Given the description of an element on the screen output the (x, y) to click on. 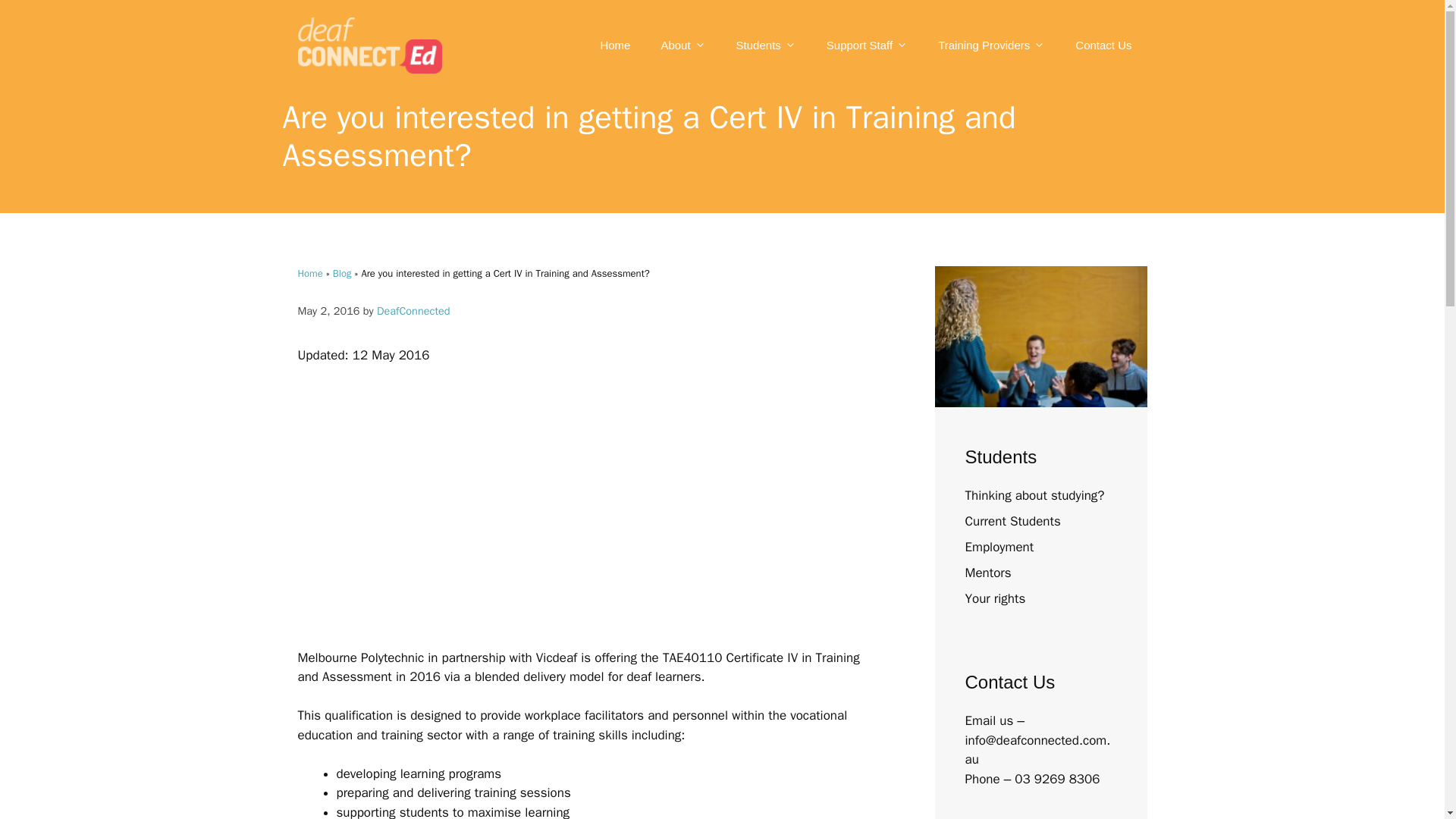
Home (615, 45)
About (682, 45)
Students (765, 45)
Training Providers (991, 45)
Support Staff (866, 45)
Contact Us (1103, 45)
View all posts by DeafConnected (413, 310)
